Given the description of an element on the screen output the (x, y) to click on. 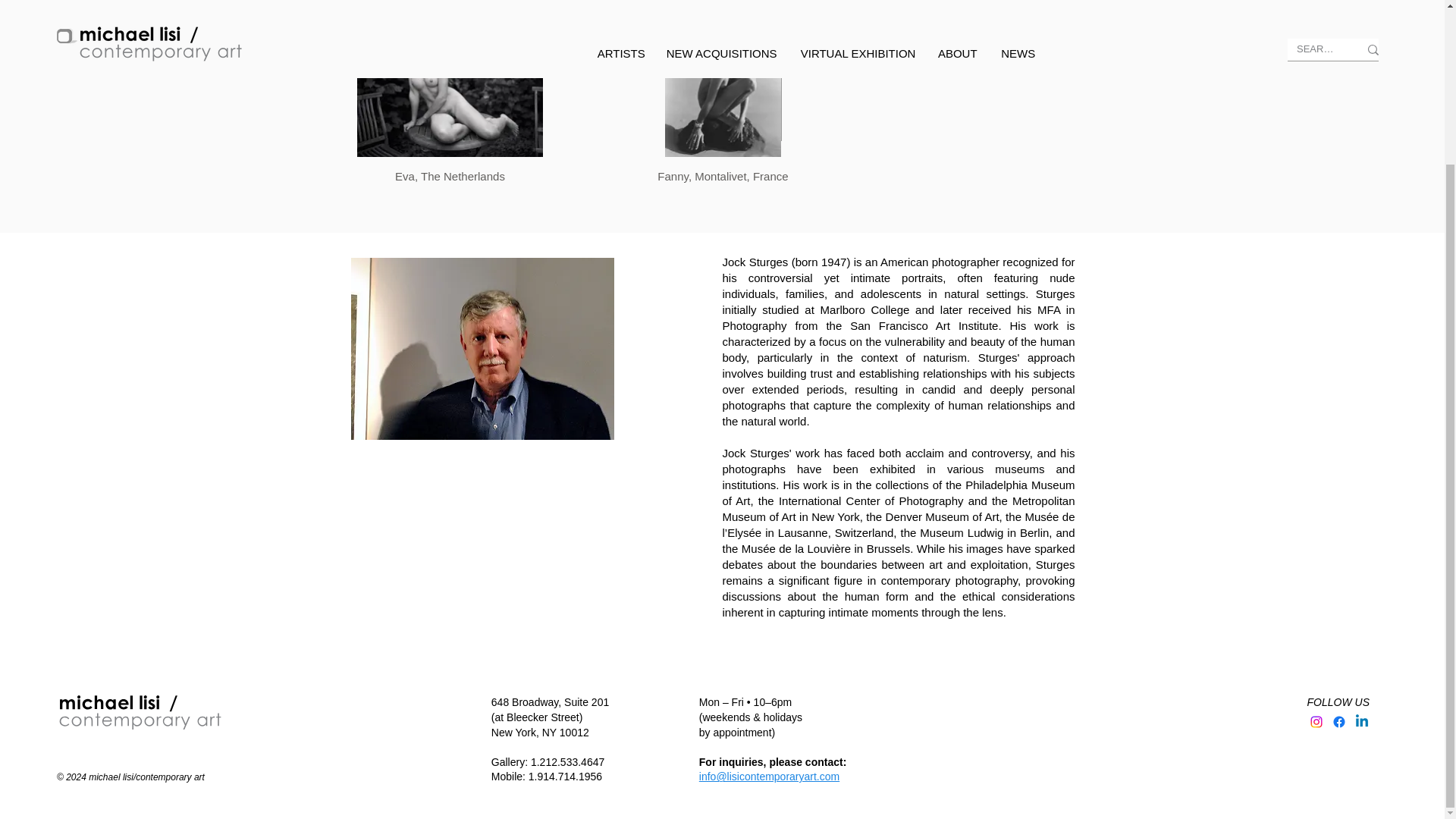
FOLLOW US (1338, 702)
